Given the description of an element on the screen output the (x, y) to click on. 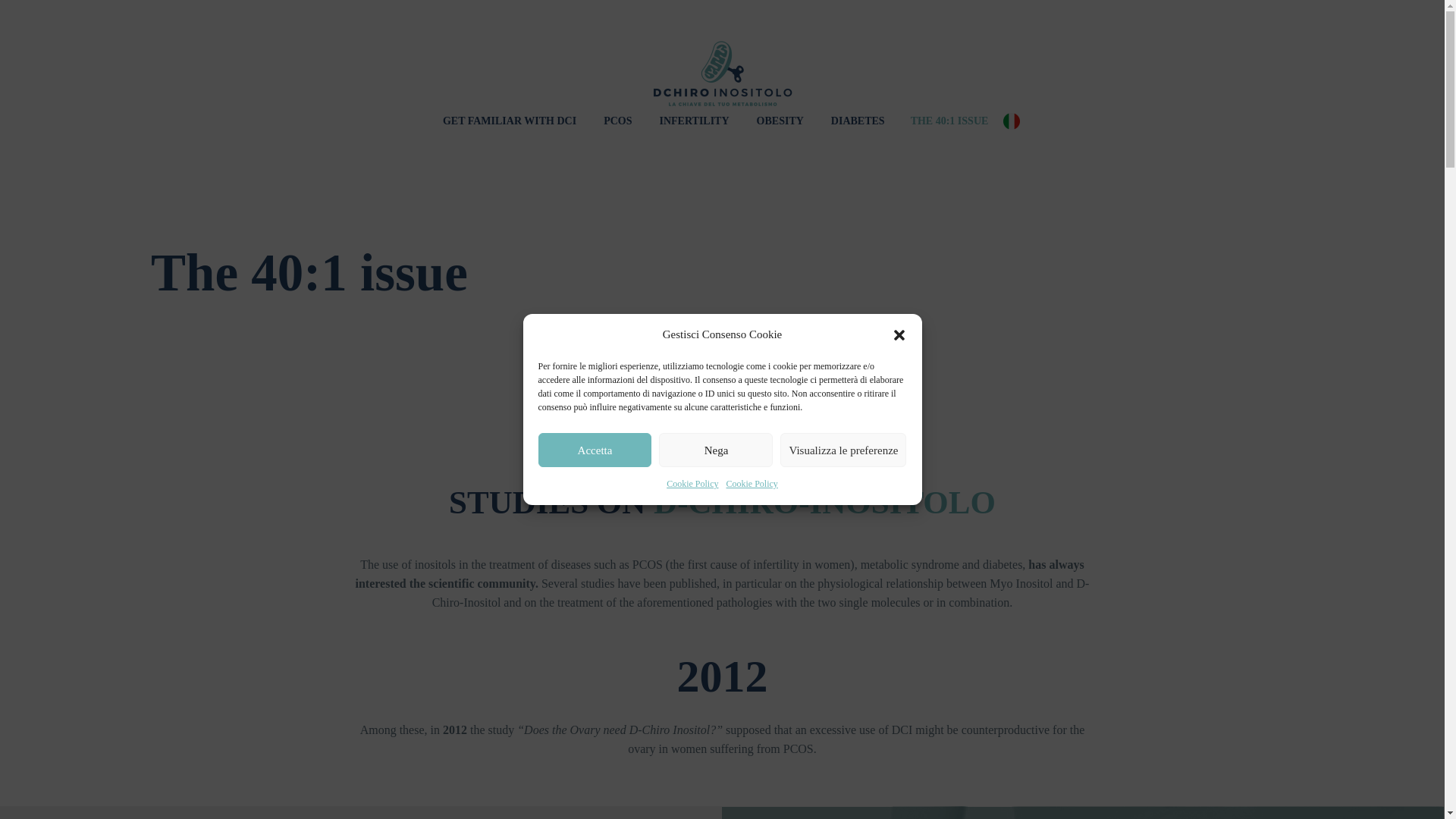
INFERTILITY (693, 120)
Cookie Policy (691, 484)
Accetta (595, 449)
GET FAMILIAR WITH DCI (509, 120)
img1 (1083, 812)
DIABETES (857, 120)
THE 40:1 ISSUE (949, 120)
Nega (716, 449)
Cookie Policy (751, 484)
Visualizza le preferenze (842, 449)
PCOS (617, 120)
OBESITY (780, 120)
ITA (1019, 120)
